Given the description of an element on the screen output the (x, y) to click on. 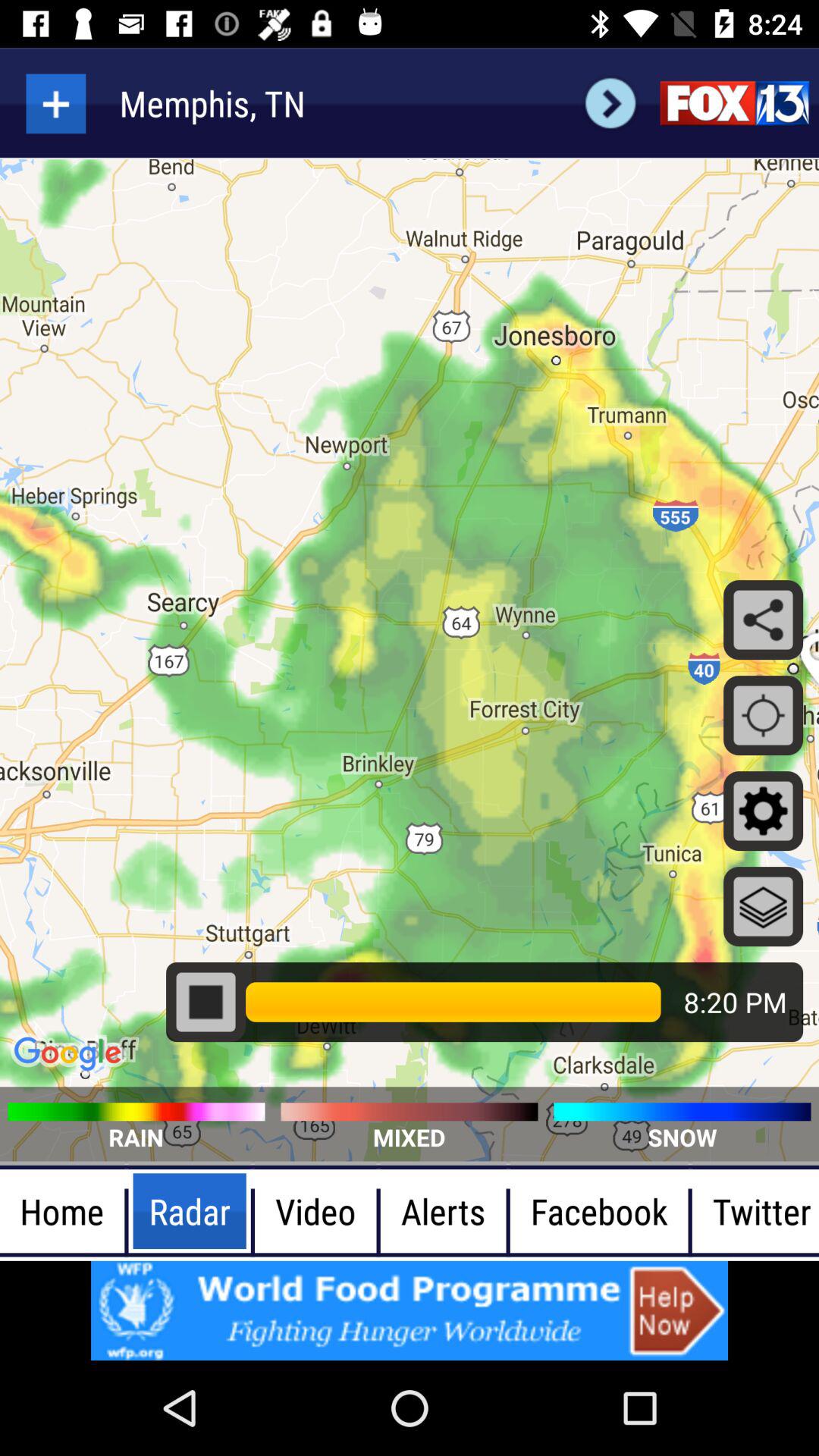
add more items (55, 103)
